Given the description of an element on the screen output the (x, y) to click on. 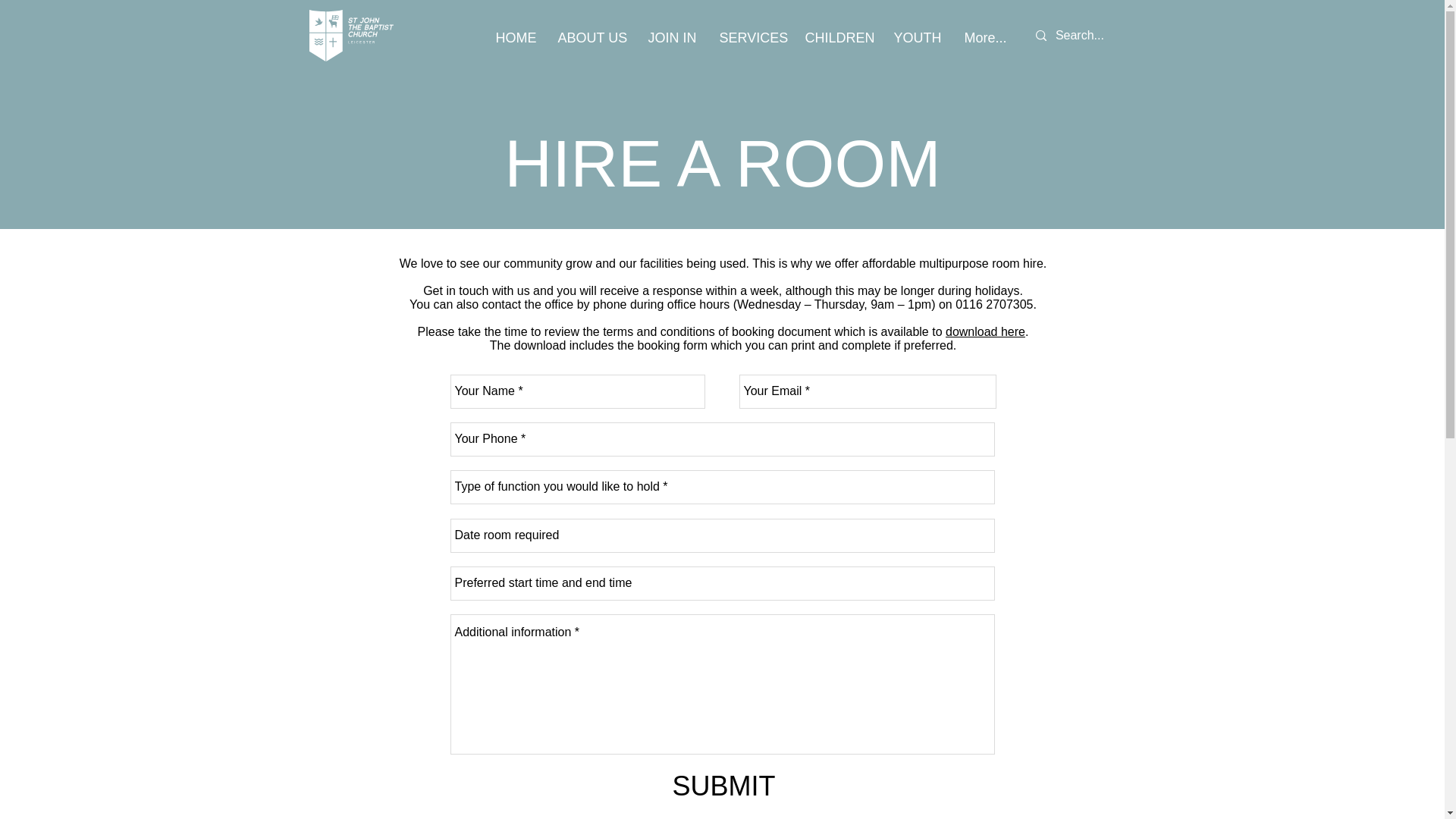
SUBMIT (722, 786)
HOME (514, 38)
ABOUT US (591, 38)
JOIN IN (672, 38)
download here (984, 331)
